Given the description of an element on the screen output the (x, y) to click on. 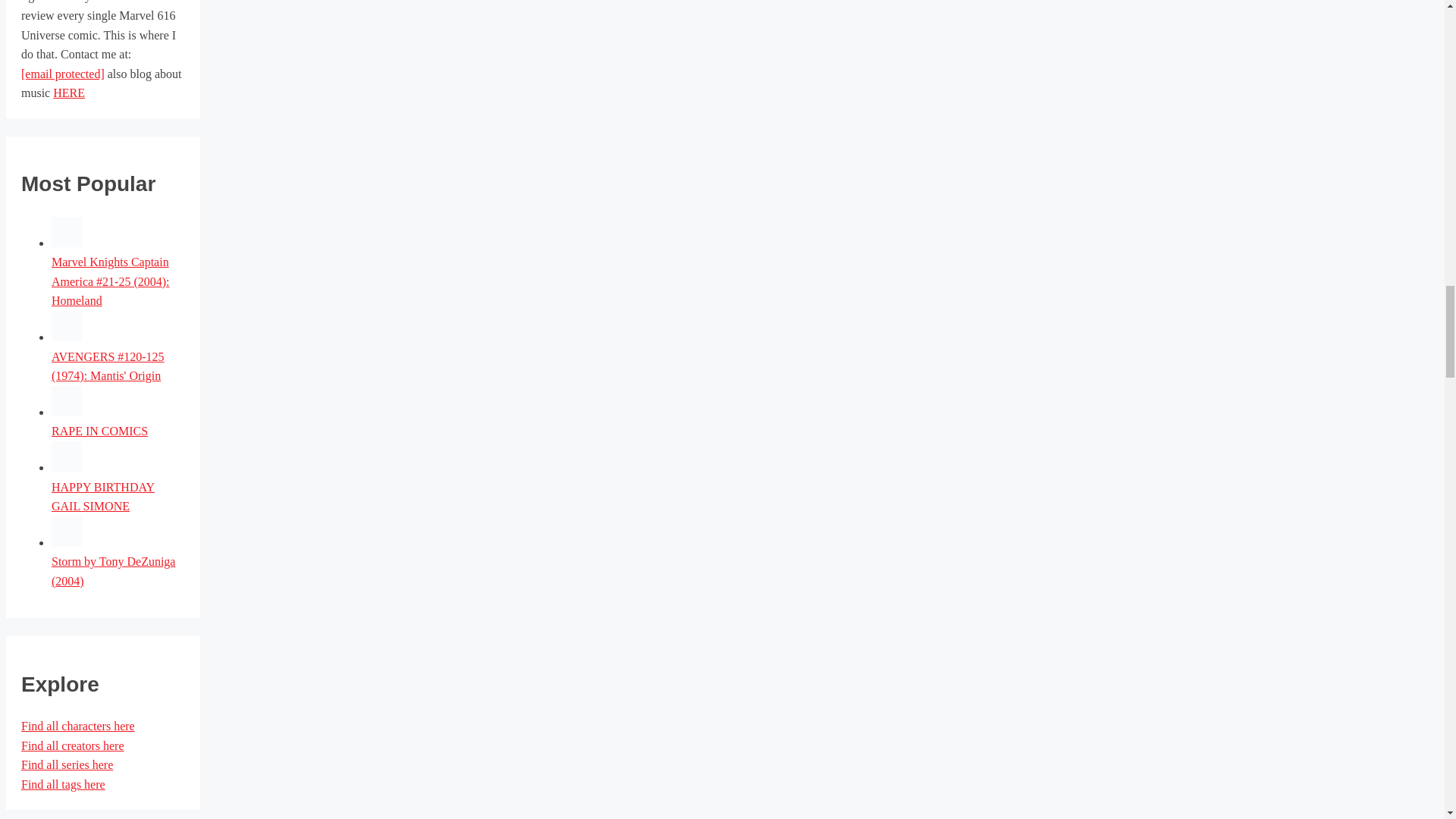
Find all creators here (72, 745)
RAPE IN COMICS (99, 431)
Find all series here (67, 764)
RAPE IN COMICS (99, 431)
HAPPY BIRTHDAY GAIL SIMONE (102, 496)
Find all characters here (78, 725)
Find all tags here (62, 784)
HAPPY BIRTHDAY GAIL SIMONE (65, 467)
HAPPY BIRTHDAY GAIL SIMONE (102, 496)
HERE (68, 92)
RAPE IN COMICS (65, 411)
